Given the description of an element on the screen output the (x, y) to click on. 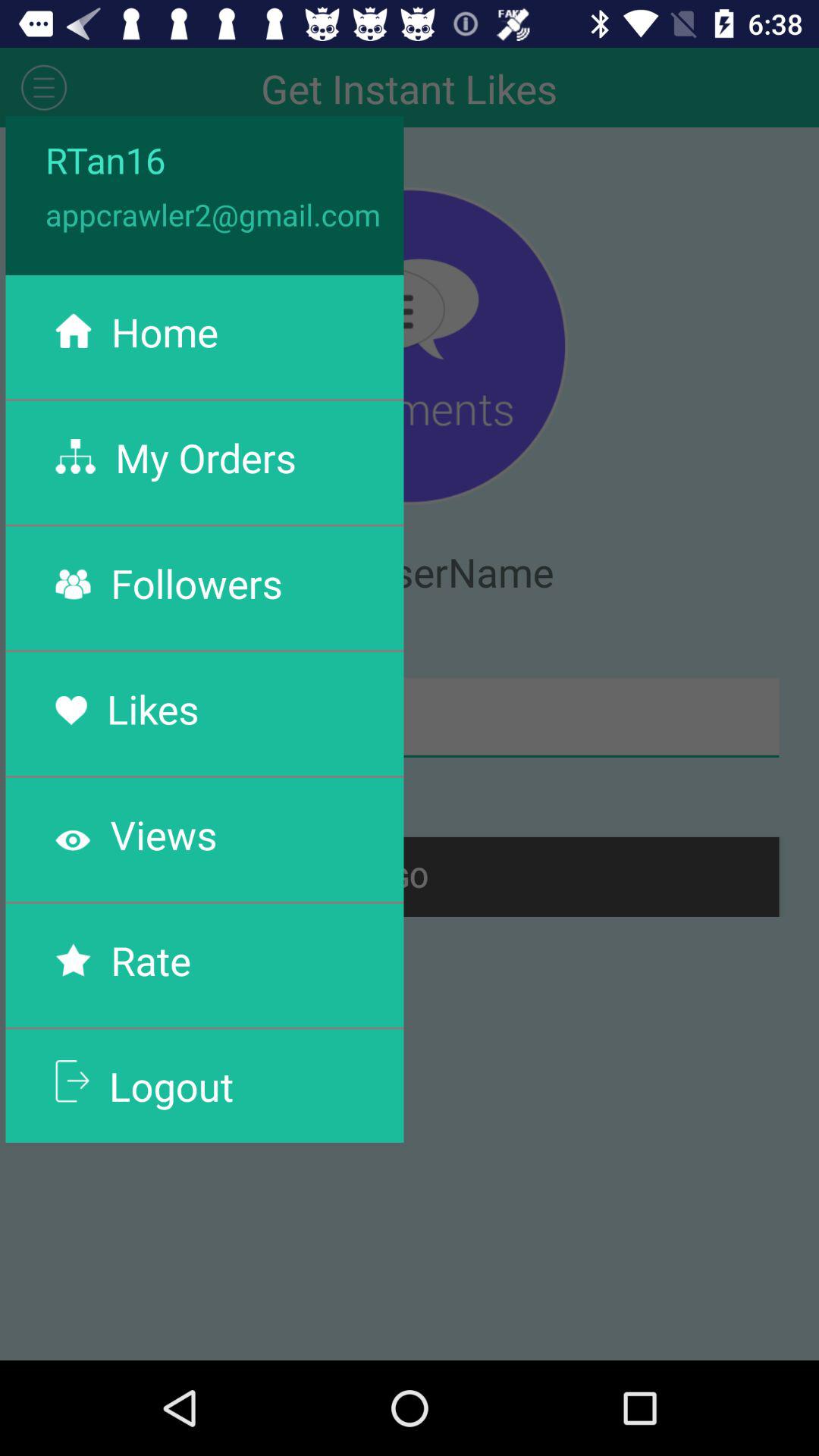
jump until the followers (196, 582)
